Given the description of an element on the screen output the (x, y) to click on. 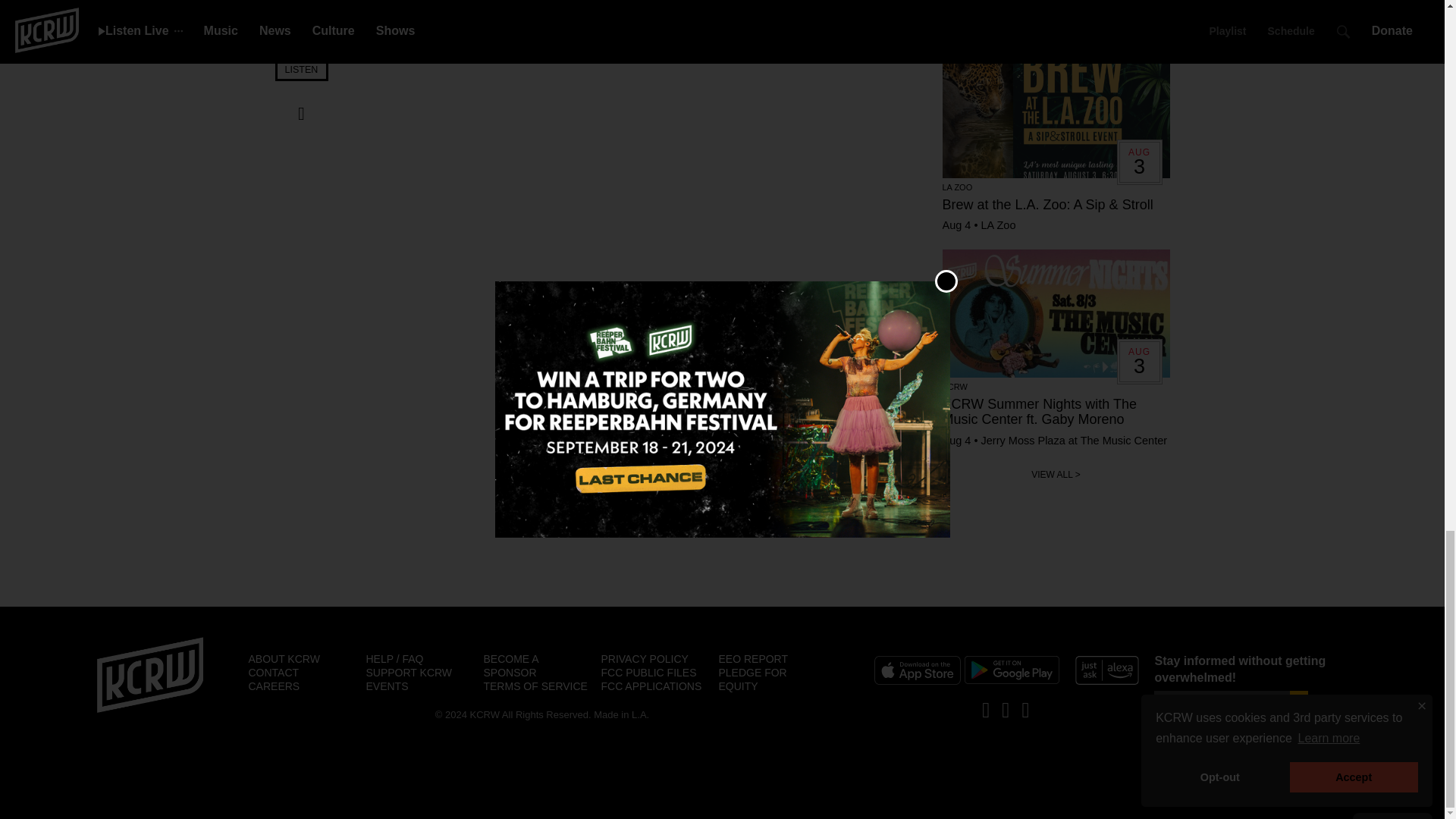
KCRW (150, 674)
Get it on Google Play (1011, 670)
Download on the App Store (916, 670)
3rd party ad content (721, 564)
